Given the description of an element on the screen output the (x, y) to click on. 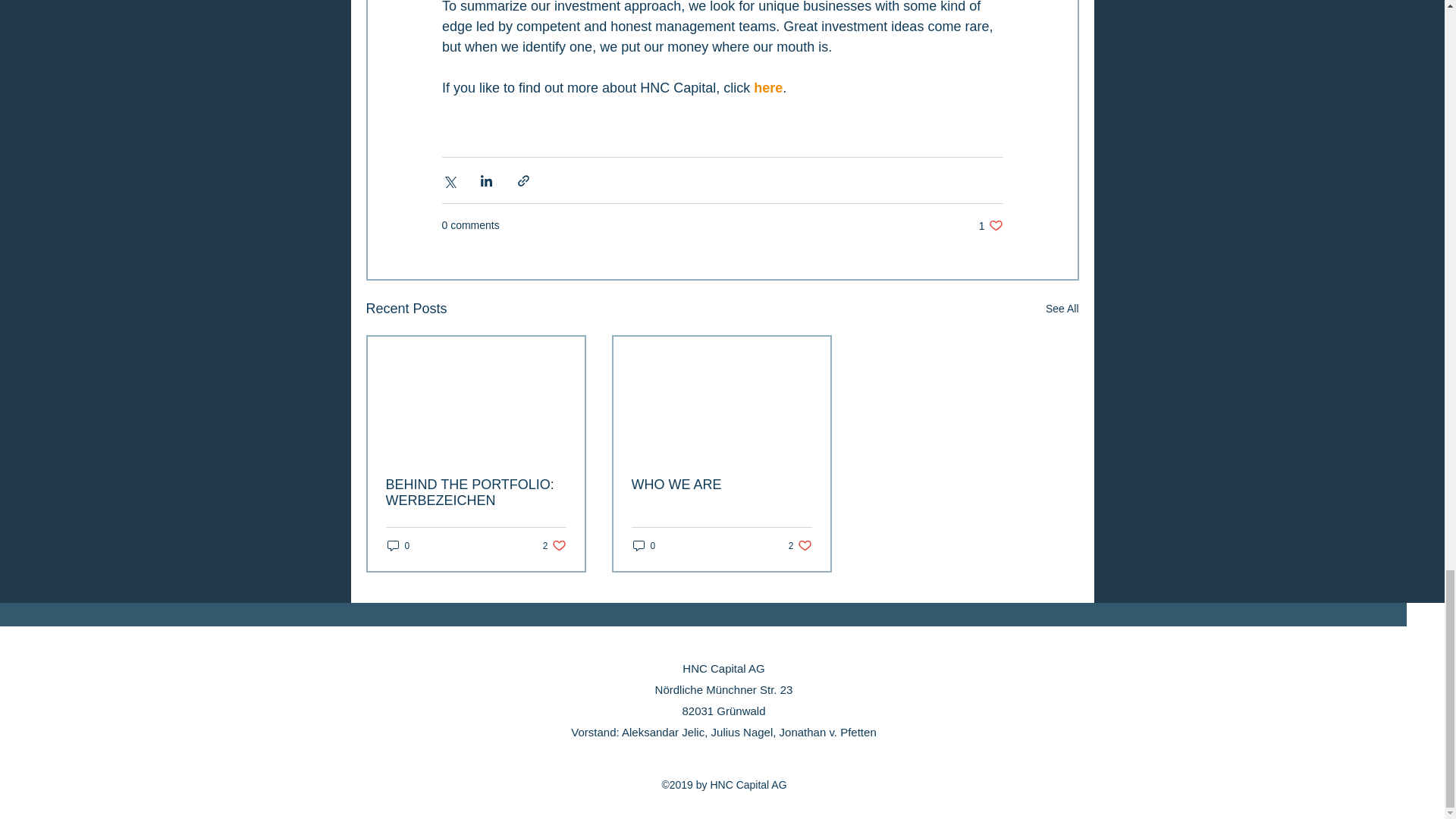
here (554, 545)
See All (990, 225)
0 (768, 87)
BEHIND THE PORTFOLIO: WERBEZEICHEN (800, 545)
0 (1061, 309)
WHO WE ARE (397, 545)
